Given the description of an element on the screen output the (x, y) to click on. 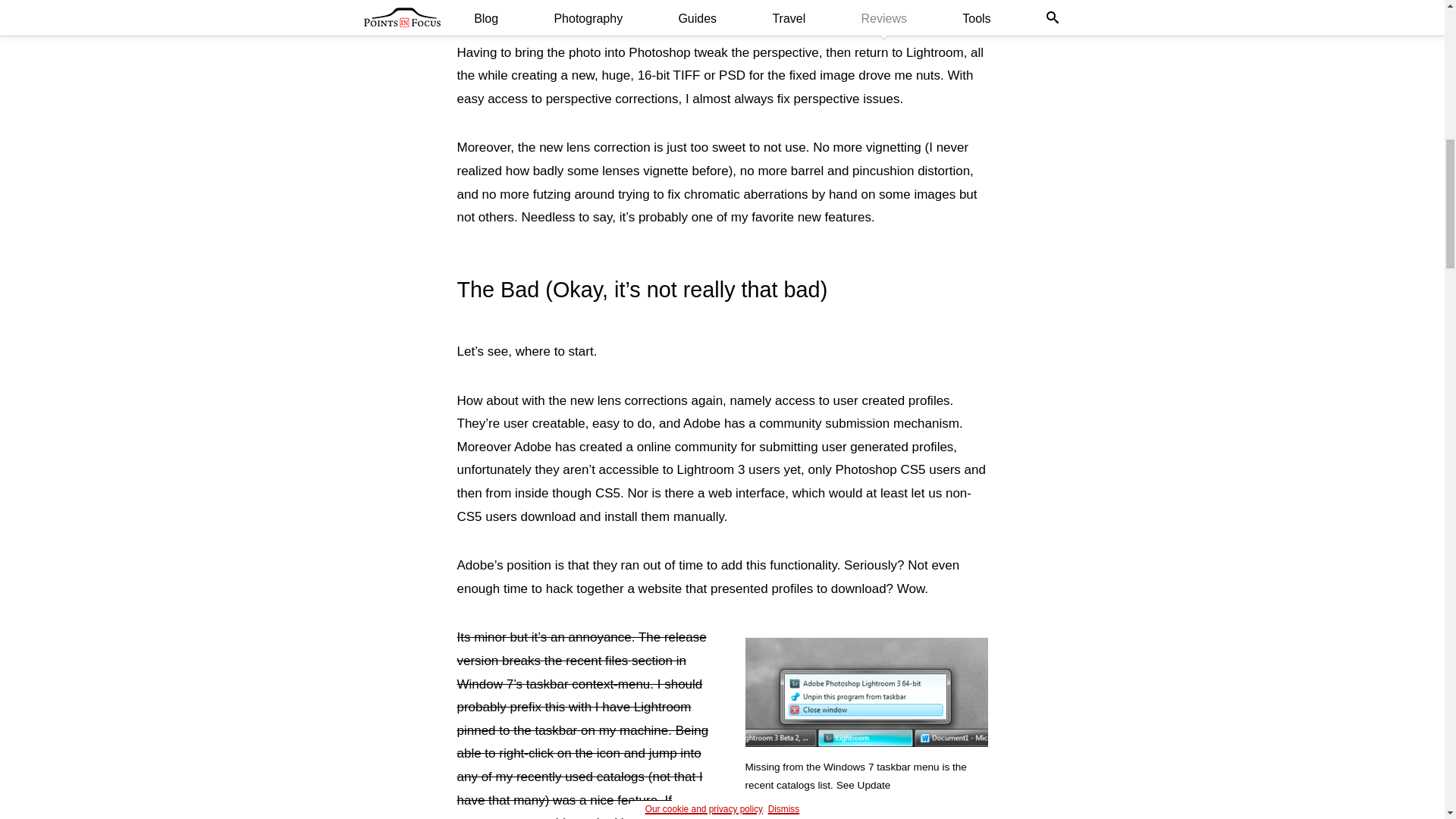
recent-catalogs (865, 692)
